Given the description of an element on the screen output the (x, y) to click on. 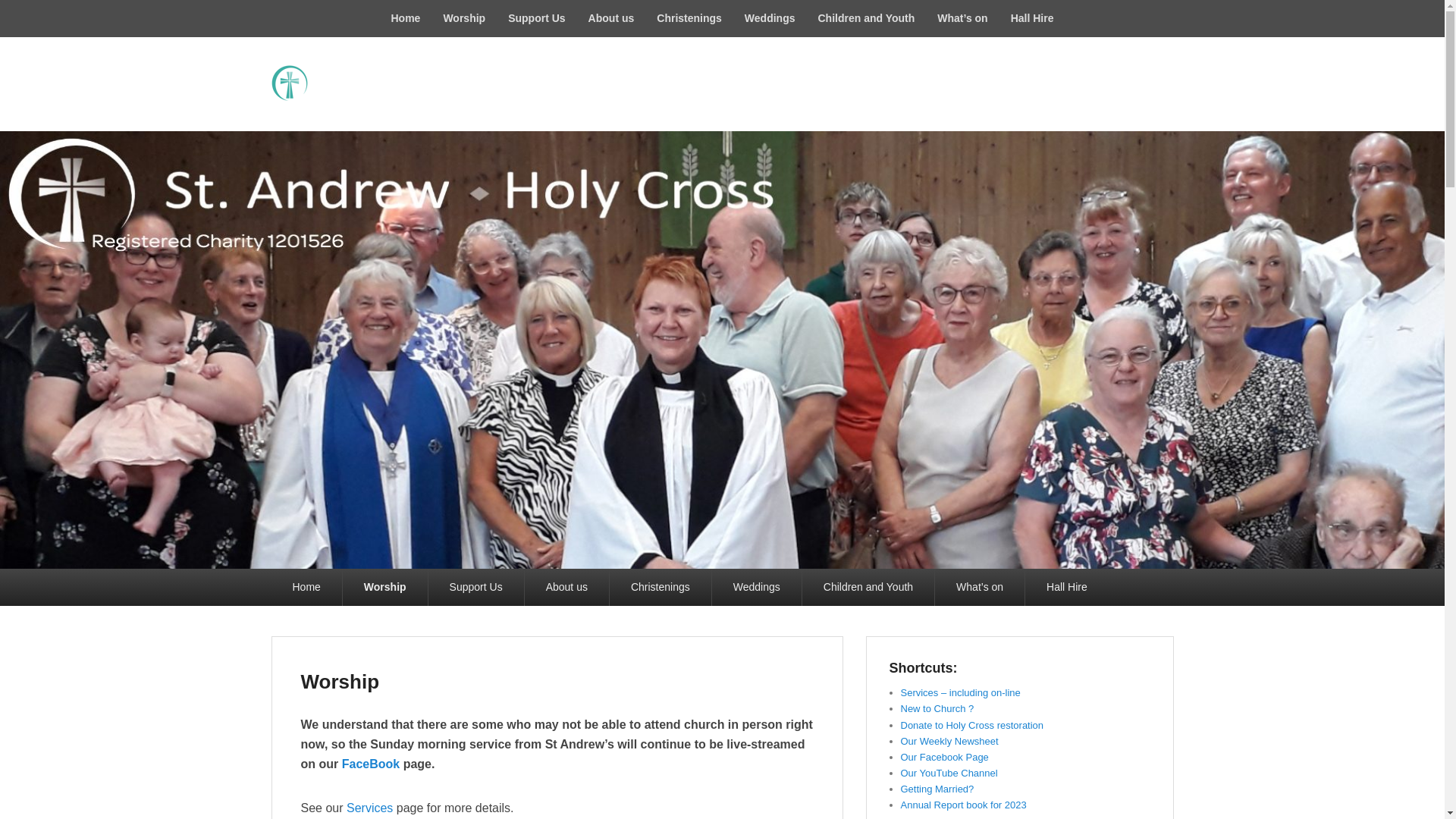
Worship (463, 18)
Hall Hire (1031, 18)
Children and Youth (866, 18)
Weddings (769, 18)
Christenings (689, 18)
Home (404, 18)
About us (611, 18)
Support Us (536, 18)
Permalink to Worship (338, 681)
